Given the description of an element on the screen output the (x, y) to click on. 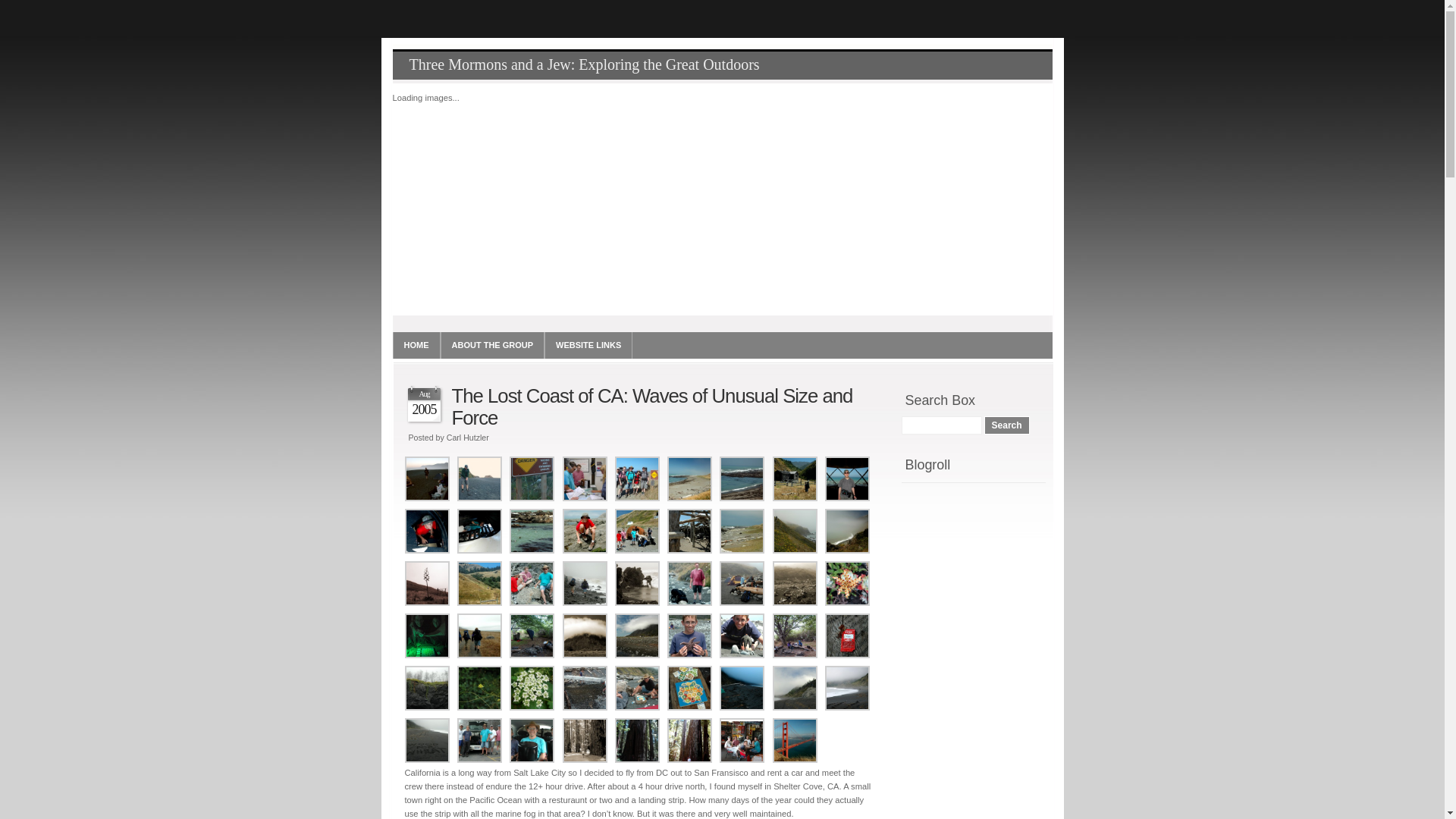
WEBSITE LINKS Element type: text (588, 345)
The Lost Coast of CA: Waves of Unusual Size and Force Element type: text (652, 406)
Search Element type: text (1006, 425)
Three Mormons and a Jew: Exploring the Great Outdoors Element type: text (584, 64)
HOME Element type: text (416, 345)
ABOUT THE GROUP Element type: text (491, 345)
